Given the description of an element on the screen output the (x, y) to click on. 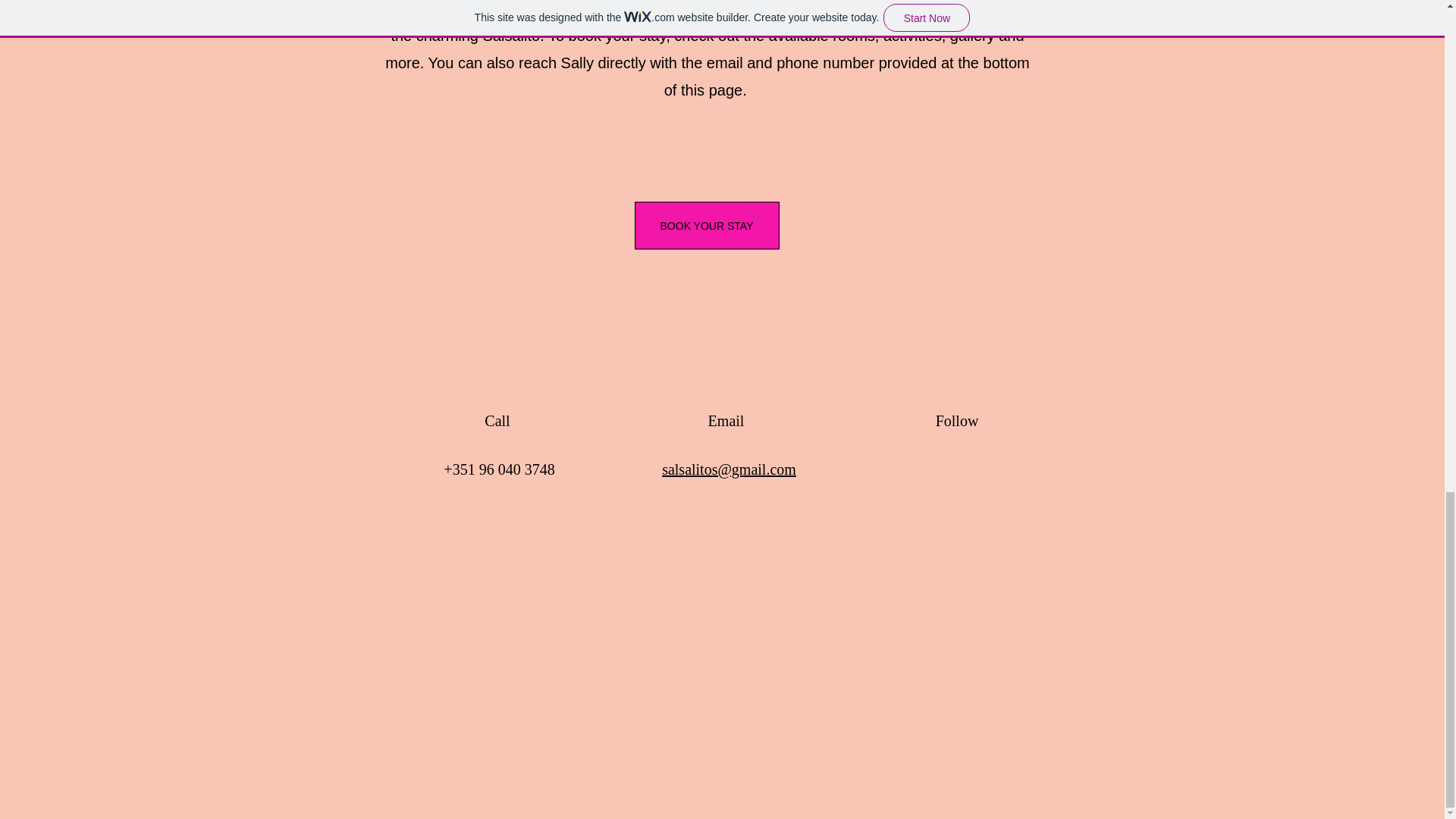
BOOK YOUR STAY (705, 225)
